Given the description of an element on the screen output the (x, y) to click on. 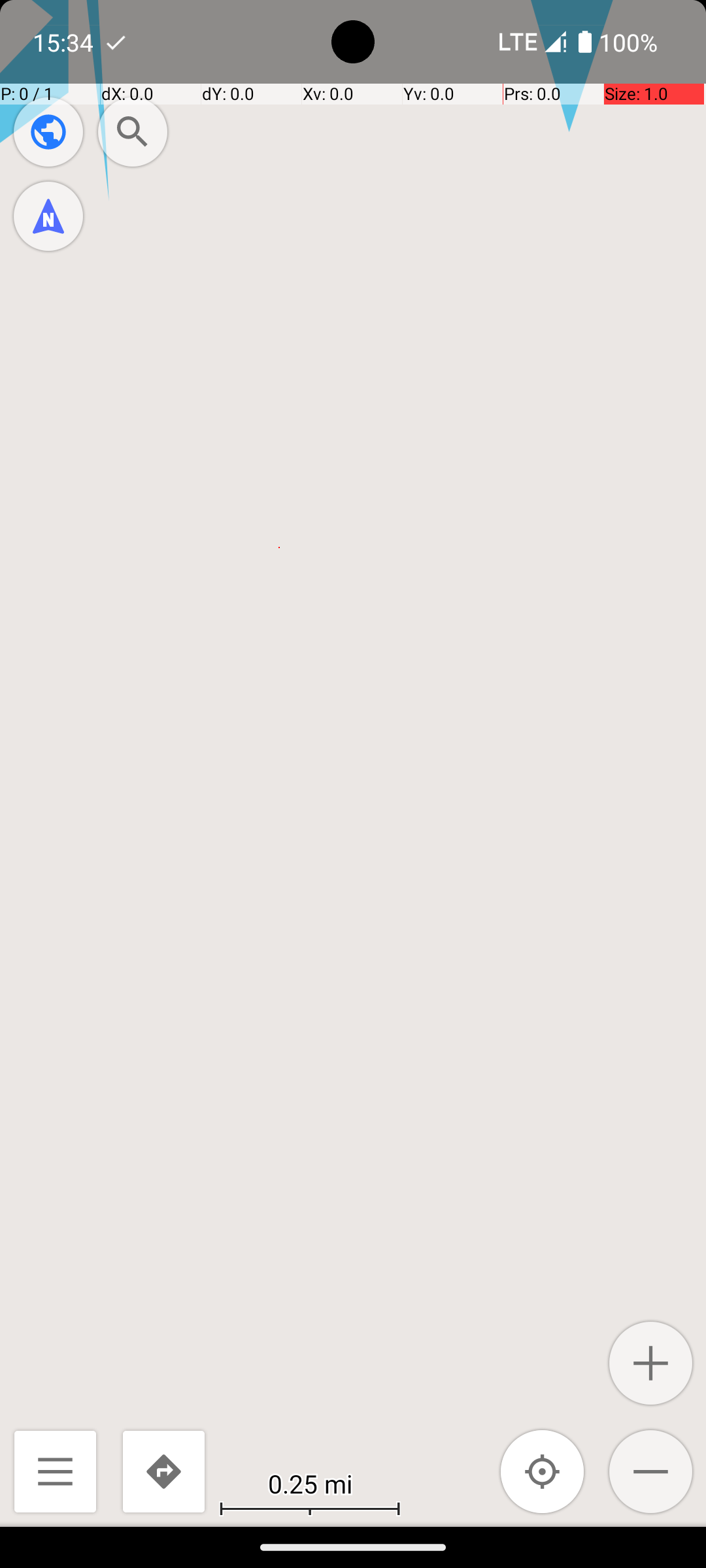
0.25 mi Element type: android.widget.TextView (309, 1483)
